Given the description of an element on the screen output the (x, y) to click on. 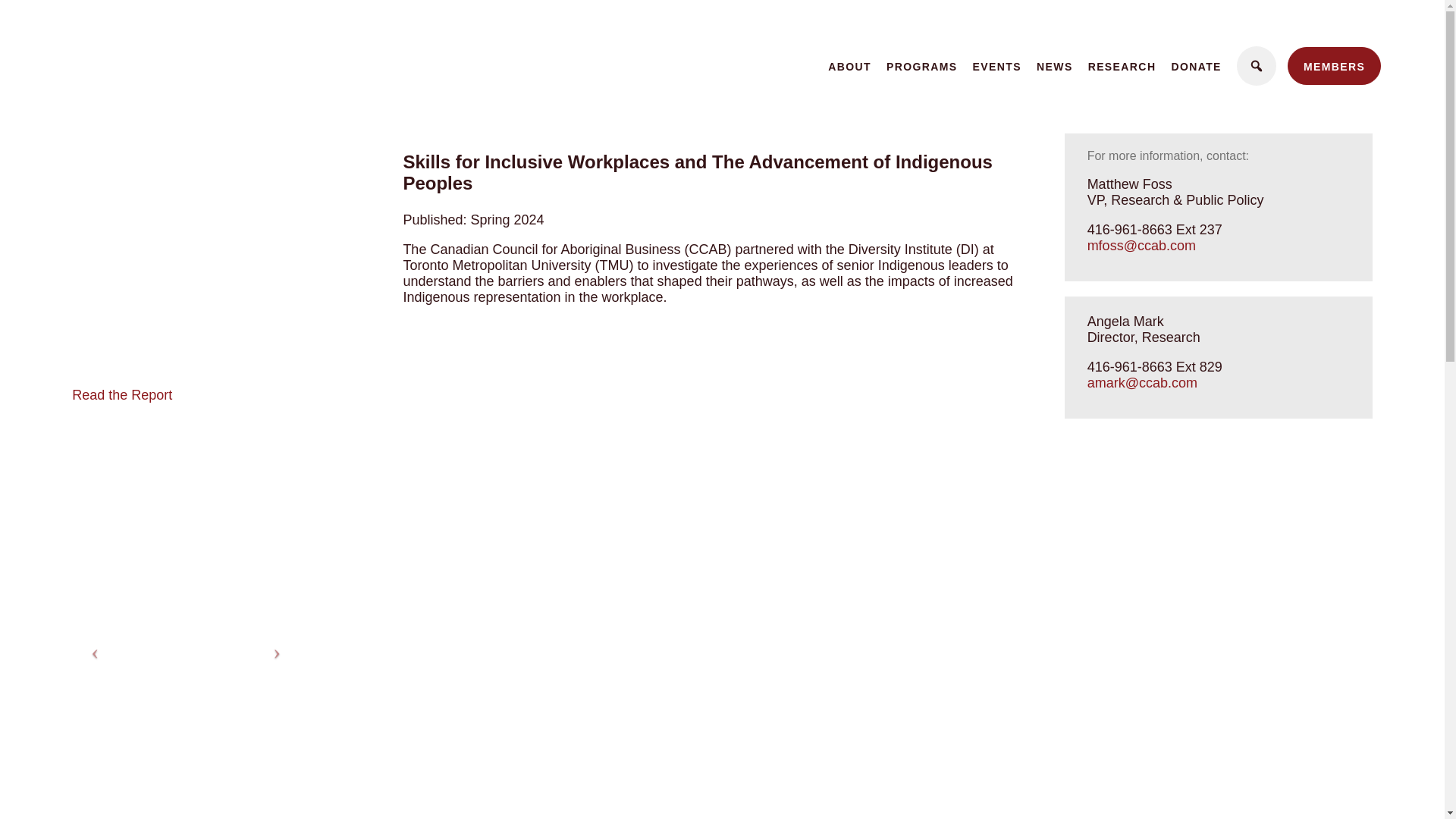
MEMBERS (1333, 65)
RESEARCH (1121, 66)
PROGRAMS (922, 66)
Search (21, 7)
